Given the description of an element on the screen output the (x, y) to click on. 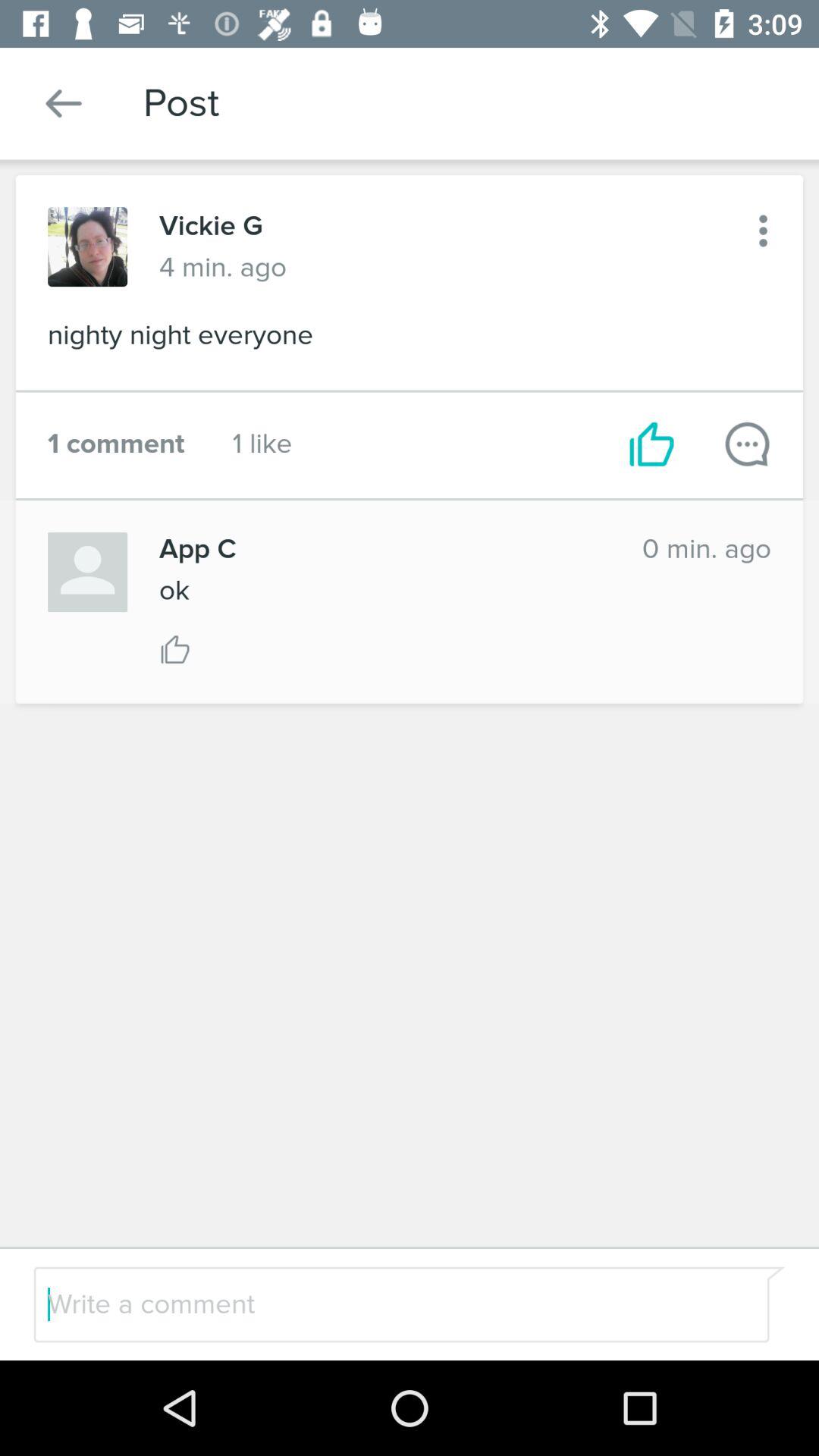
press the icon below app c (174, 590)
